Given the description of an element on the screen output the (x, y) to click on. 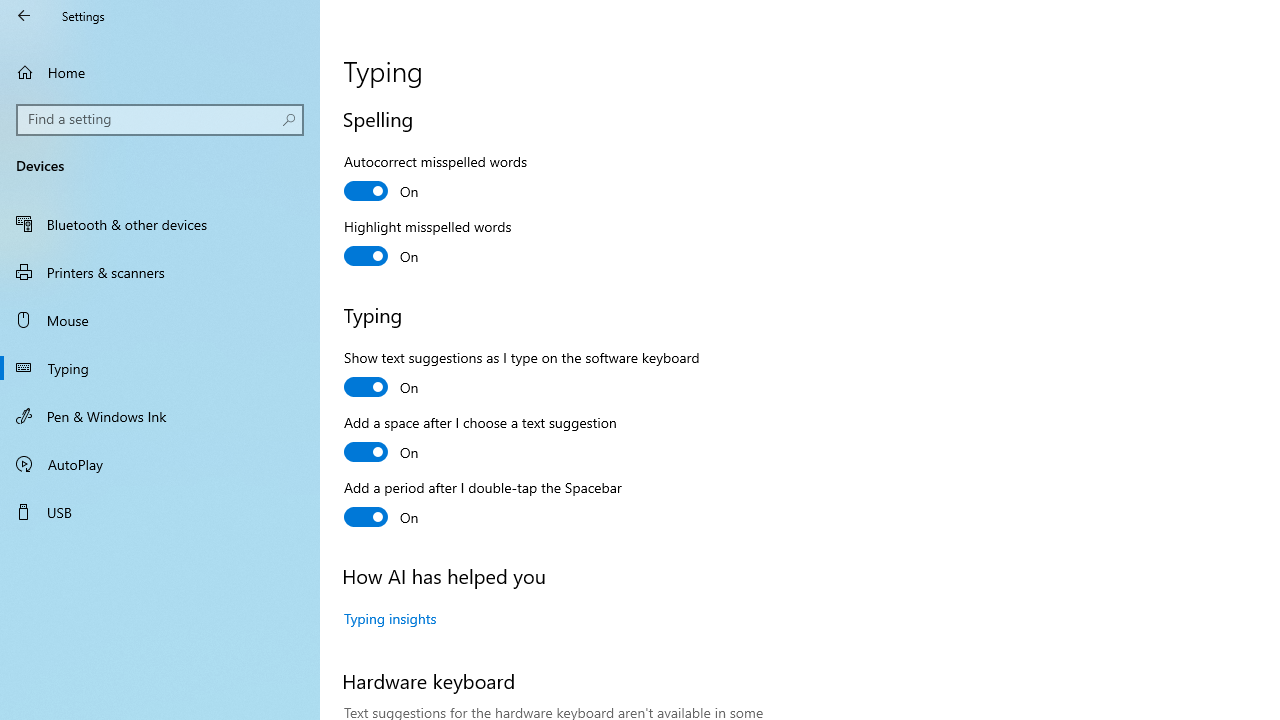
Back (24, 15)
USB (160, 511)
Printers & scanners (160, 271)
Add a period after I double-tap the Spacebar (483, 505)
Typing (160, 367)
Pen & Windows Ink (160, 415)
Add a space after I choose a text suggestion (480, 440)
Show text suggestions as I type on the software keyboard (522, 375)
AutoPlay (160, 463)
Typing insights (390, 618)
Highlight misspelled words (428, 244)
Autocorrect misspelled words (435, 179)
Bluetooth & other devices (160, 223)
Home (160, 71)
Mouse (160, 319)
